Given the description of an element on the screen output the (x, y) to click on. 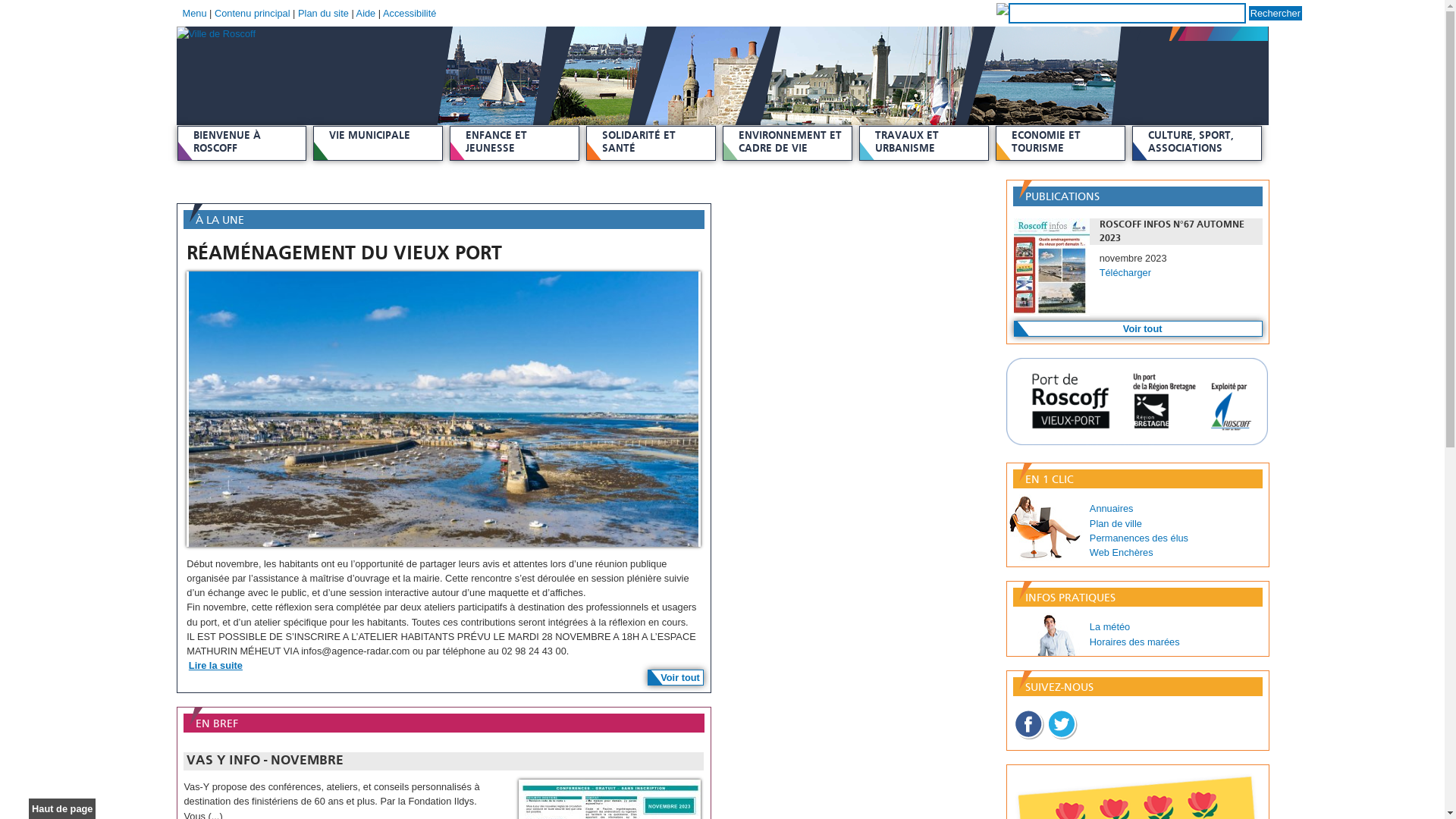
Accueil Element type: hover (721, 33)
TRAVAUX ET URBANISME Element type: text (923, 142)
ECONOMIE ET TOURISME Element type: text (1060, 142)
Aide Element type: text (366, 12)
ENFANCE ET JEUNESSE Element type: text (514, 142)
Contenu principal Element type: text (252, 12)
ENVIRONNEMENT ET CADRE DE VIE Element type: text (787, 142)
Menu Element type: text (194, 12)
CULTURE, SPORT, ASSOCIATIONS Element type: text (1196, 142)
Voir tout Element type: text (1137, 328)
VIE MUNICIPALE Element type: text (377, 142)
Lire la suite Element type: text (443, 665)
Voir tout Element type: text (675, 677)
Plan du site Element type: text (323, 12)
Plan de ville Element type: text (1115, 523)
Annuaires Element type: text (1111, 508)
Rechercher Element type: hover (1275, 13)
